Given the description of an element on the screen output the (x, y) to click on. 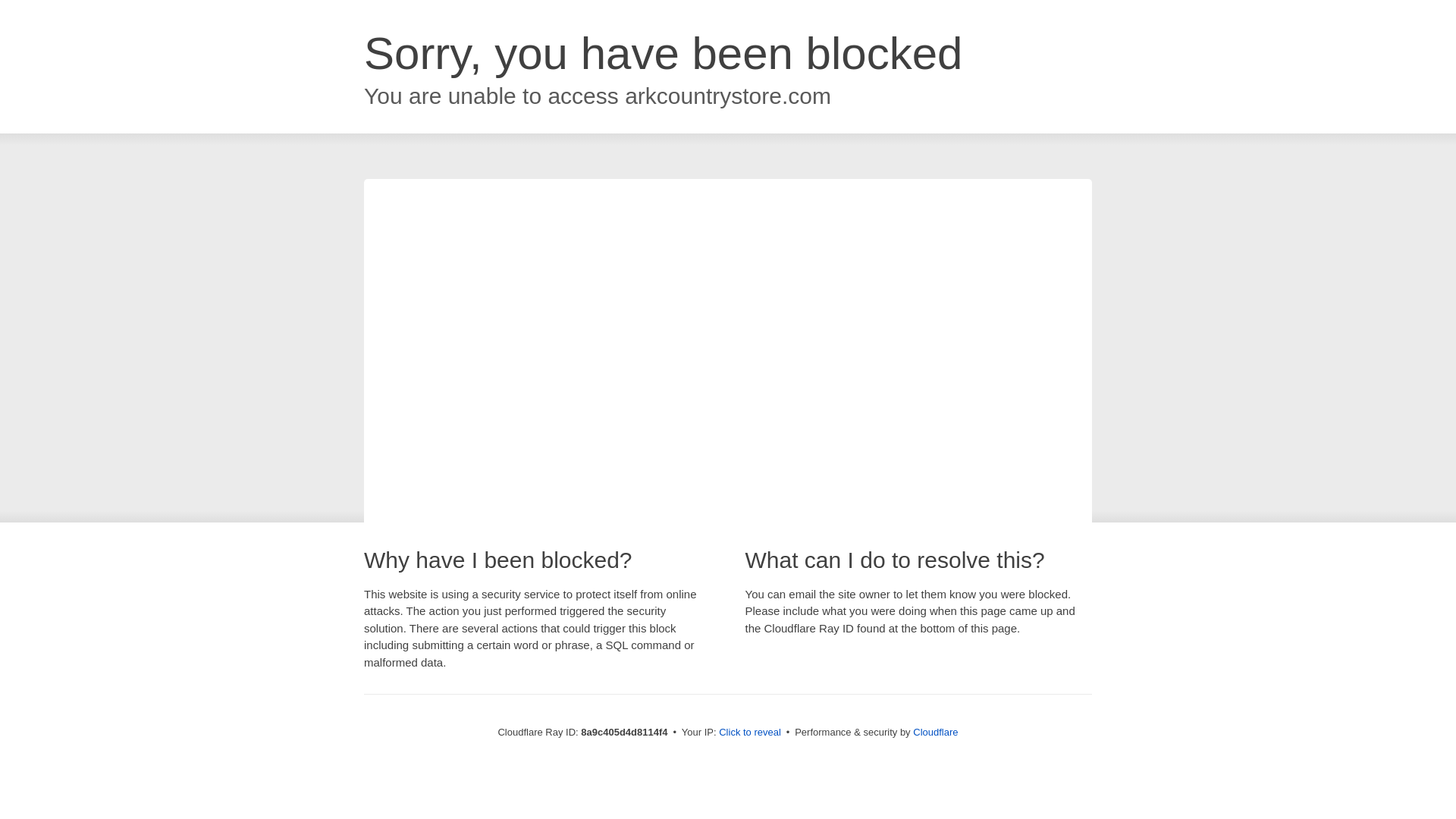
Cloudflare (935, 731)
Click to reveal (749, 732)
